Given the description of an element on the screen output the (x, y) to click on. 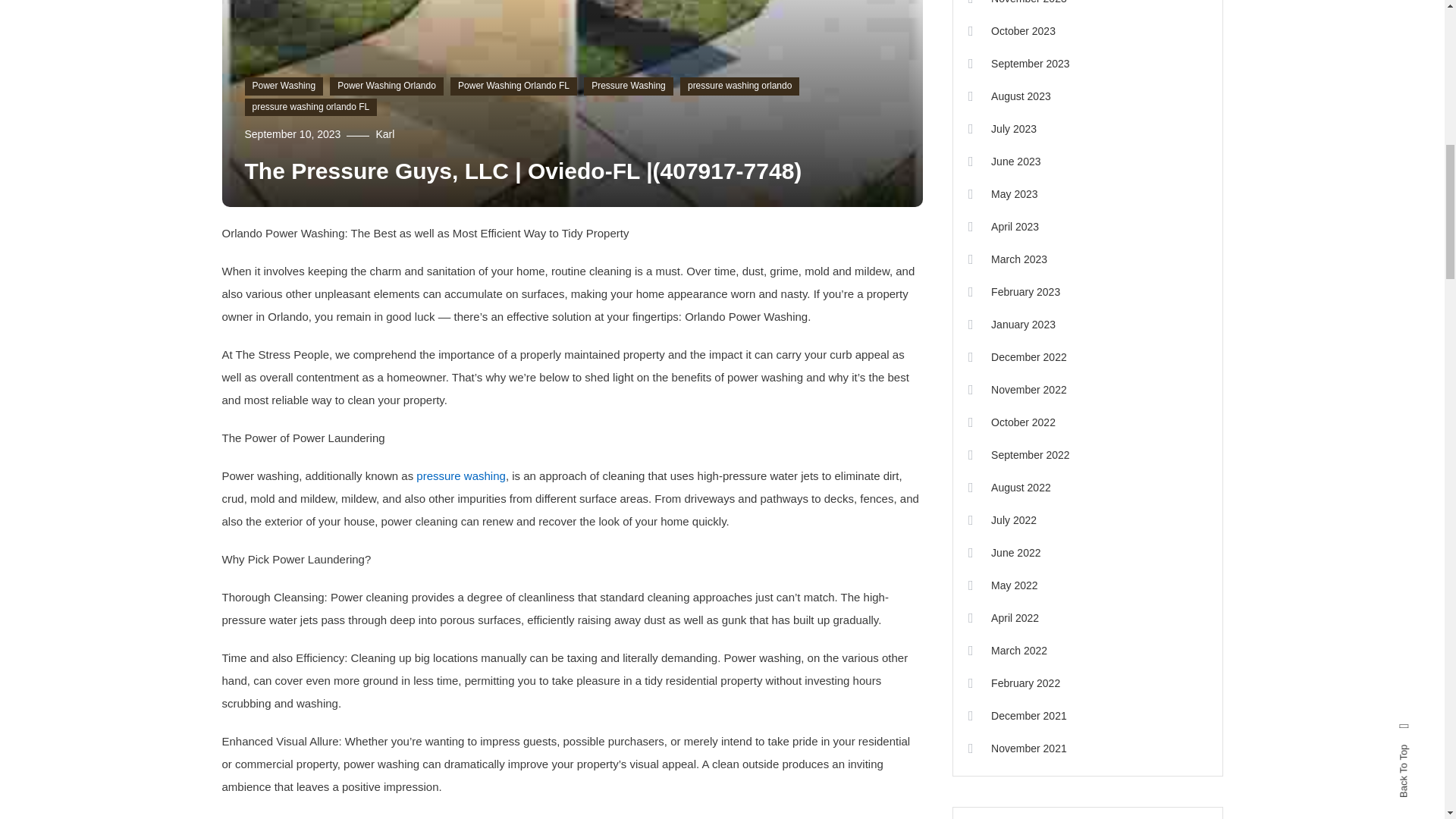
pressure washing orlando (739, 85)
Power Washing Orlando (387, 85)
September 10, 2023 (292, 133)
Power Washing Orlando FL (512, 85)
Karl (384, 133)
Pressure Washing (627, 85)
pressure washing orlando FL (310, 107)
Power Washing (283, 85)
